Given the description of an element on the screen output the (x, y) to click on. 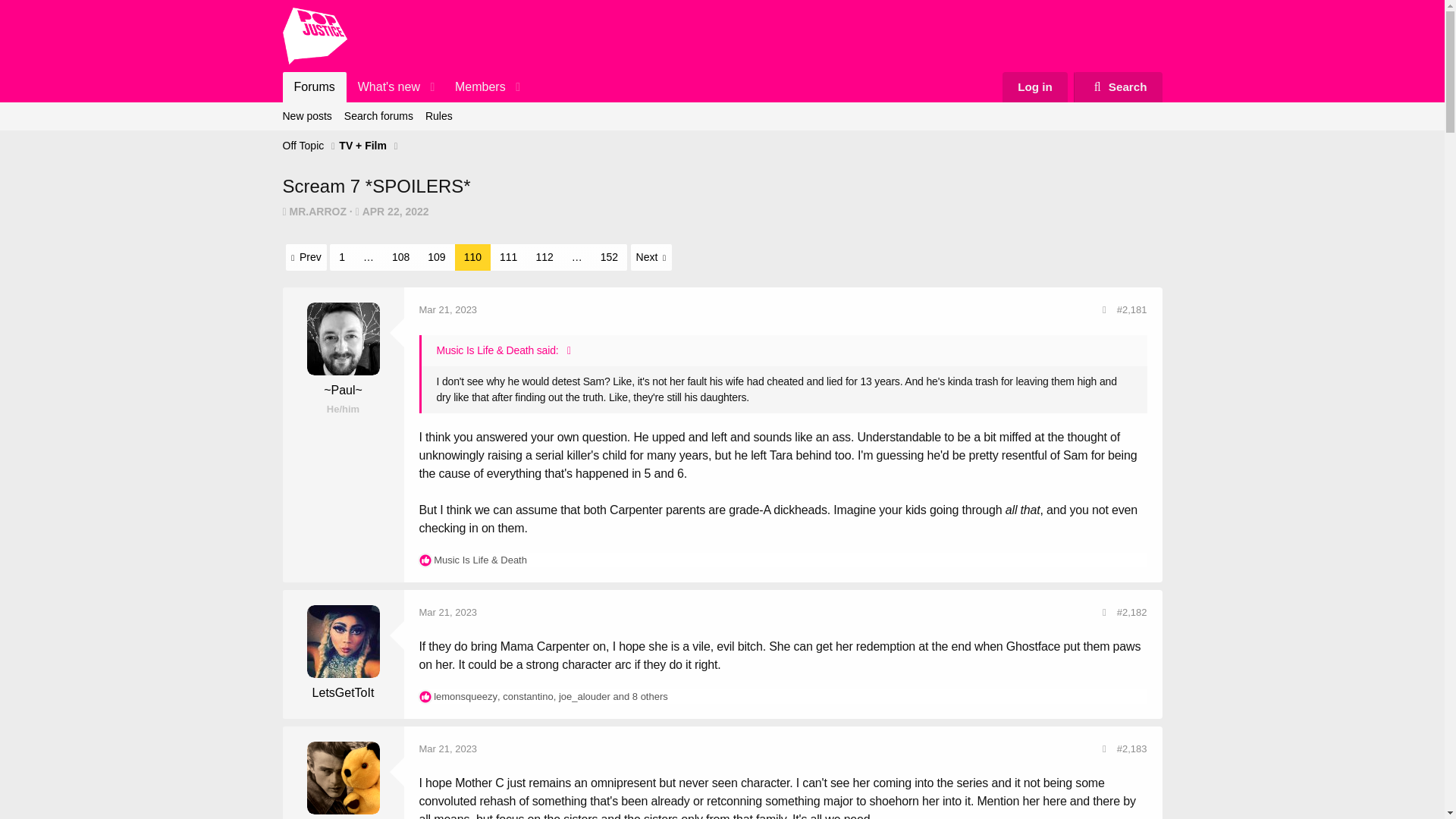
Go to page (577, 257)
Prev (305, 257)
Like (424, 696)
What's new (384, 87)
Rules (438, 116)
Go to page (368, 257)
Forums (721, 116)
Mar 21, 2023 at 6:28 PM (314, 87)
